Given the description of an element on the screen output the (x, y) to click on. 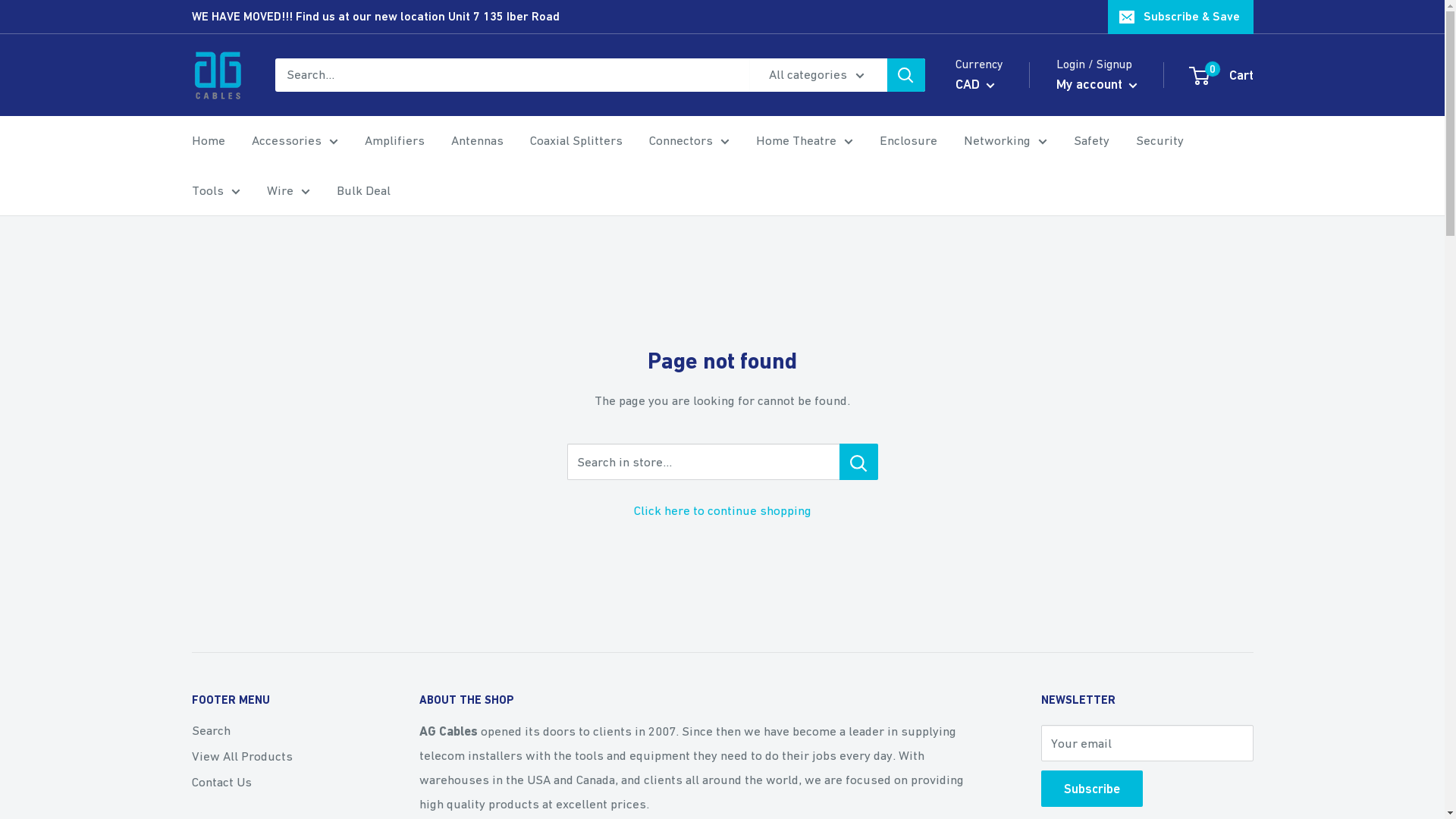
My account Element type: text (1095, 84)
Wire Element type: text (288, 190)
ABOUT THE SHOP Element type: text (702, 700)
Tools Element type: text (215, 190)
FOOTER MENU Element type: text (278, 700)
Enclosure Element type: text (908, 140)
Subscribe Element type: text (1091, 788)
CAD Element type: text (974, 84)
Bulk Deal Element type: text (363, 190)
0
Cart Element type: text (1221, 74)
Antennas Element type: text (476, 140)
Search Element type: text (278, 730)
Amplifiers Element type: text (393, 140)
Coaxial Splitters Element type: text (575, 140)
Home Element type: text (207, 140)
Subscribe & Save Element type: text (1179, 16)
View All Products Element type: text (278, 756)
Connectors Element type: text (689, 140)
Networking Element type: text (1004, 140)
Click here to continue shopping Element type: text (722, 509)
Home Theatre Element type: text (803, 140)
Contact Us Element type: text (278, 782)
Security Element type: text (1159, 140)
Accessories Element type: text (294, 140)
Safety Element type: text (1091, 140)
